Given the description of an element on the screen output the (x, y) to click on. 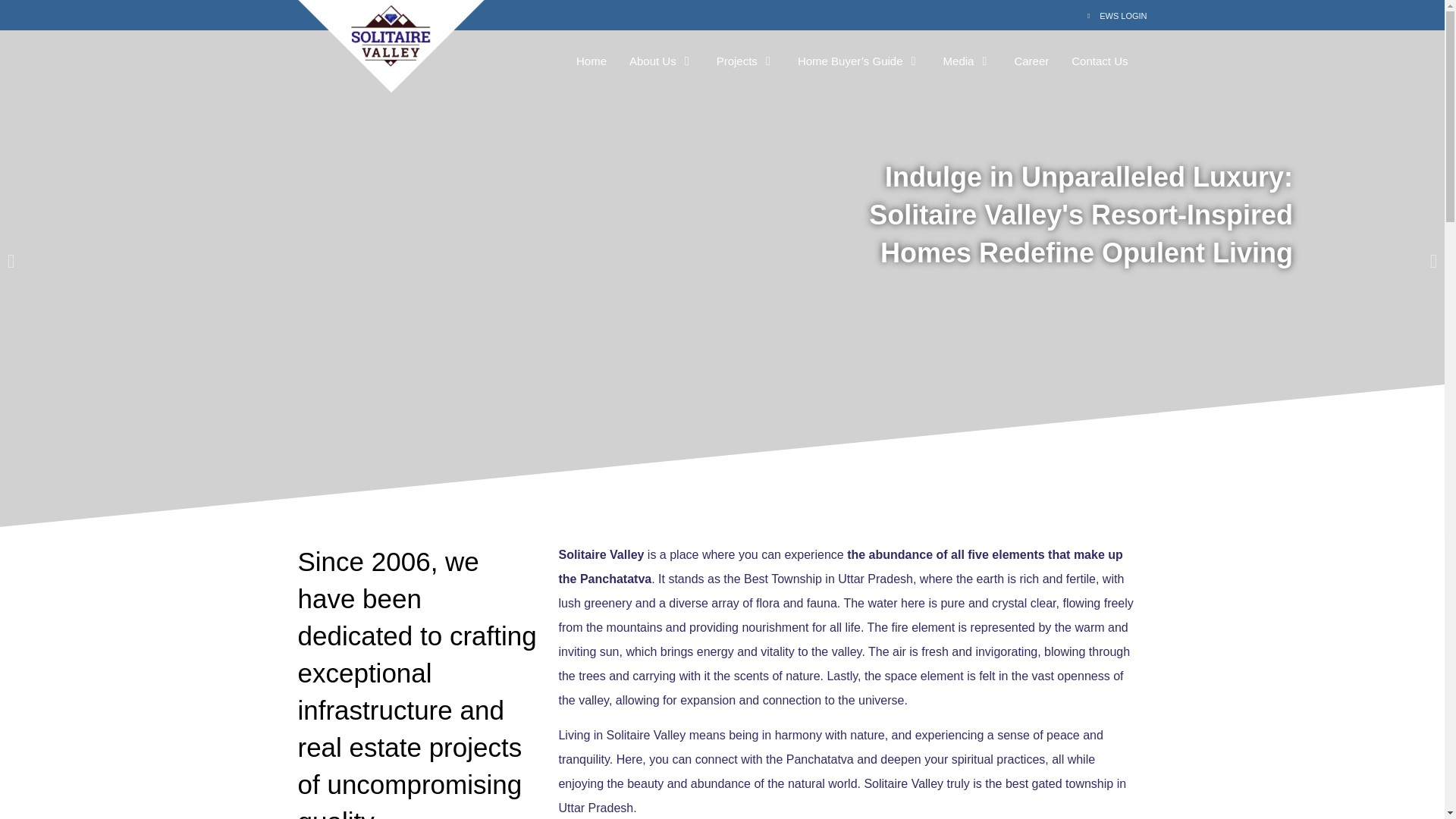
Media (958, 61)
Projects (736, 61)
About Us (652, 61)
Contact Us (1098, 61)
EWS LOGIN (938, 15)
Career (1030, 61)
Home (591, 61)
